Given the description of an element on the screen output the (x, y) to click on. 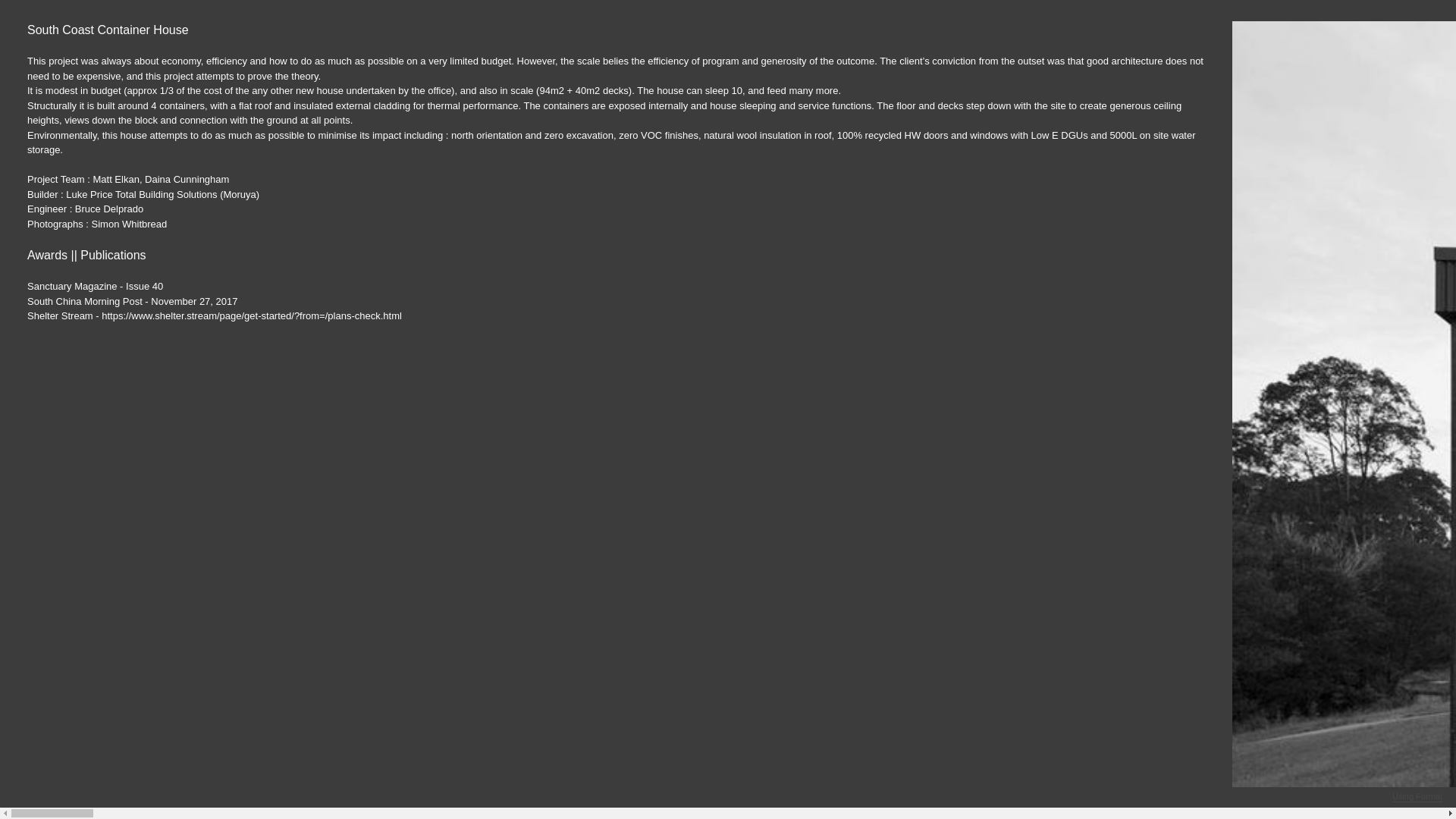
Using Format Element type: text (1417, 796)
